Given the description of an element on the screen output the (x, y) to click on. 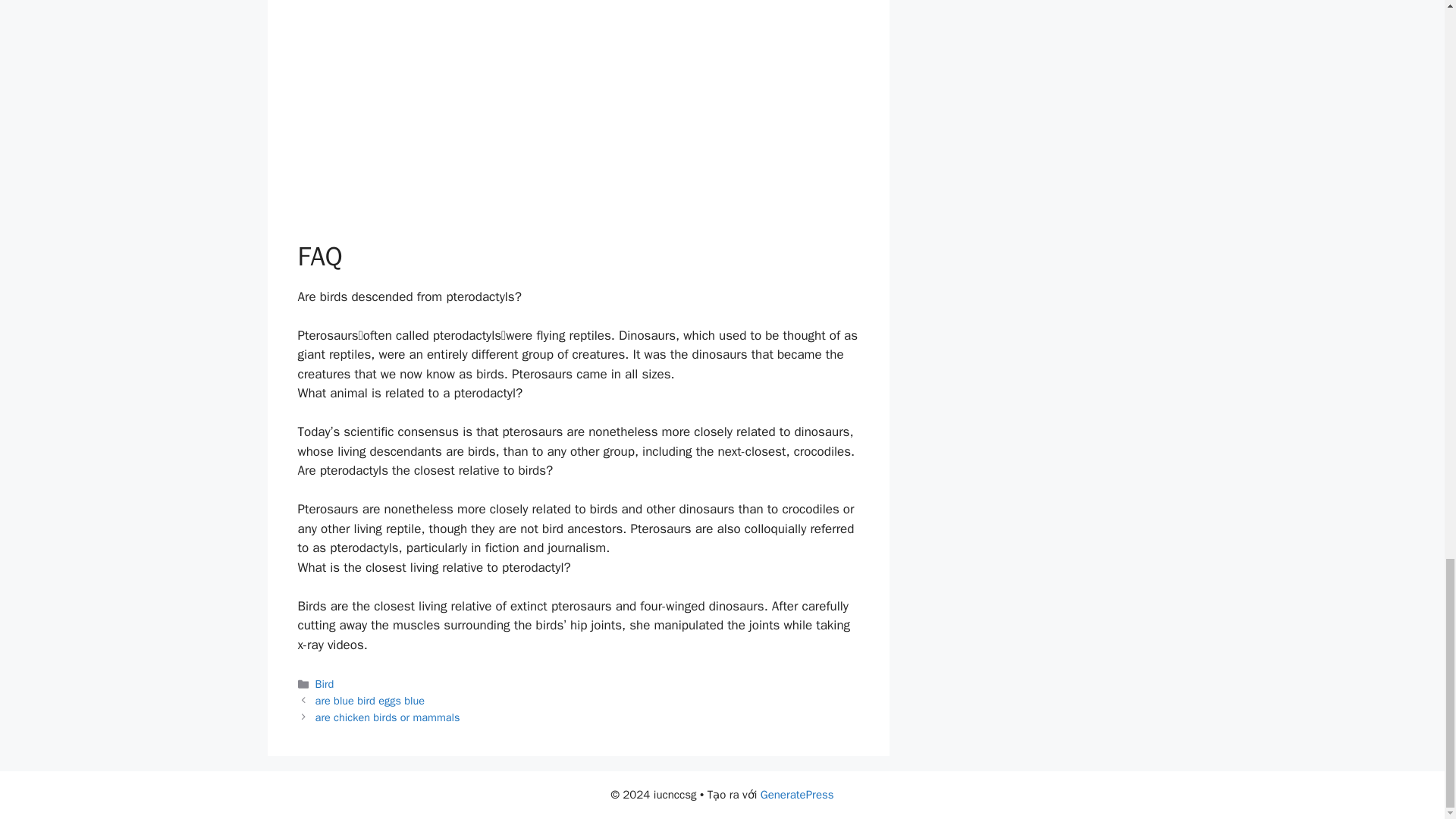
are chicken birds or mammals (387, 716)
GeneratePress (797, 794)
Bird (324, 684)
are blue bird eggs blue (370, 700)
